Given the description of an element on the screen output the (x, y) to click on. 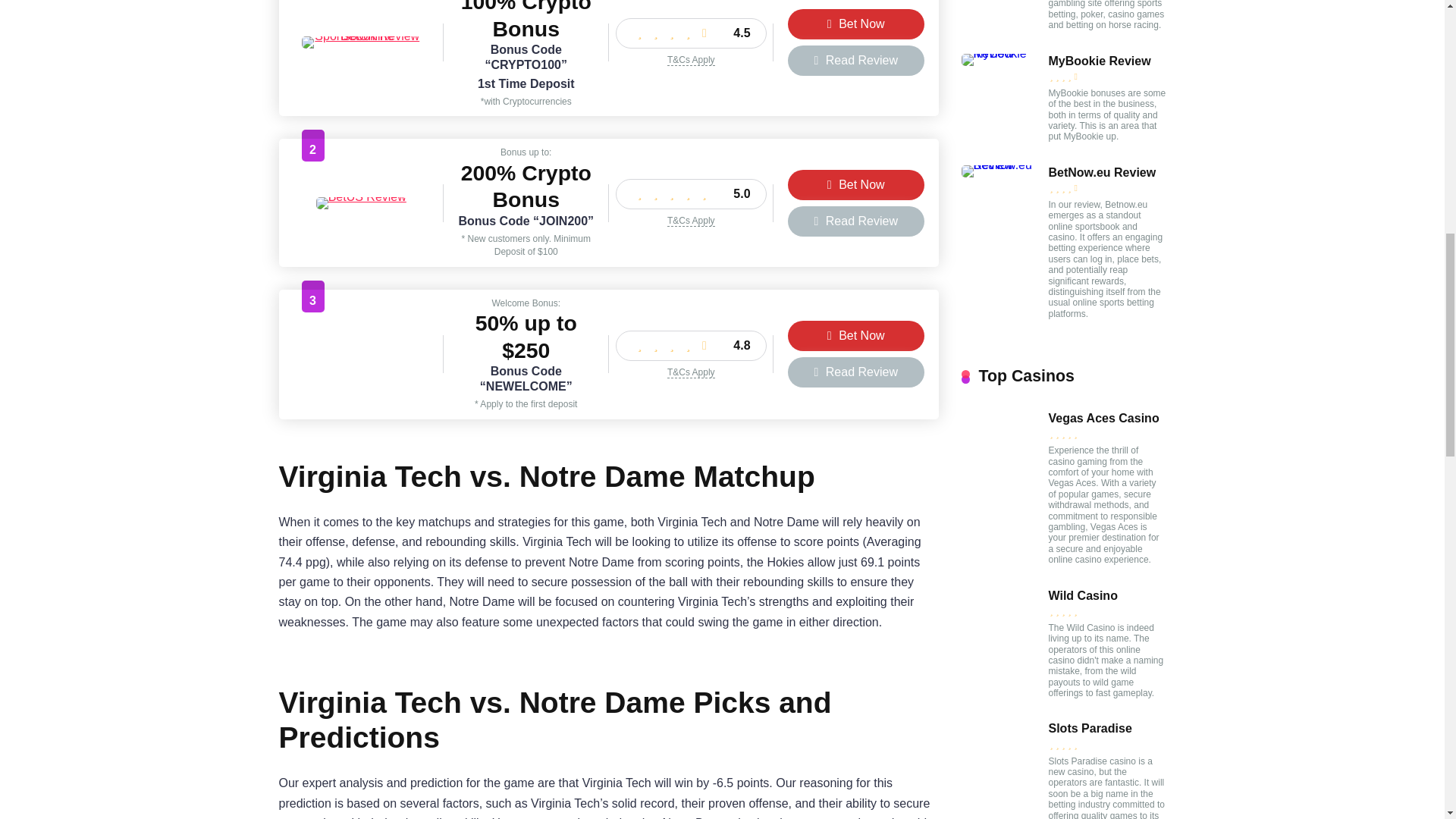
Read Review (855, 372)
Read Review (855, 60)
Bet Now (855, 24)
Read Review (855, 221)
Bet Now (855, 336)
BetUS Review (360, 196)
BetOnline Sportsbook Review (361, 35)
Bovada Review (360, 379)
Bet Now (855, 184)
